Given the description of an element on the screen output the (x, y) to click on. 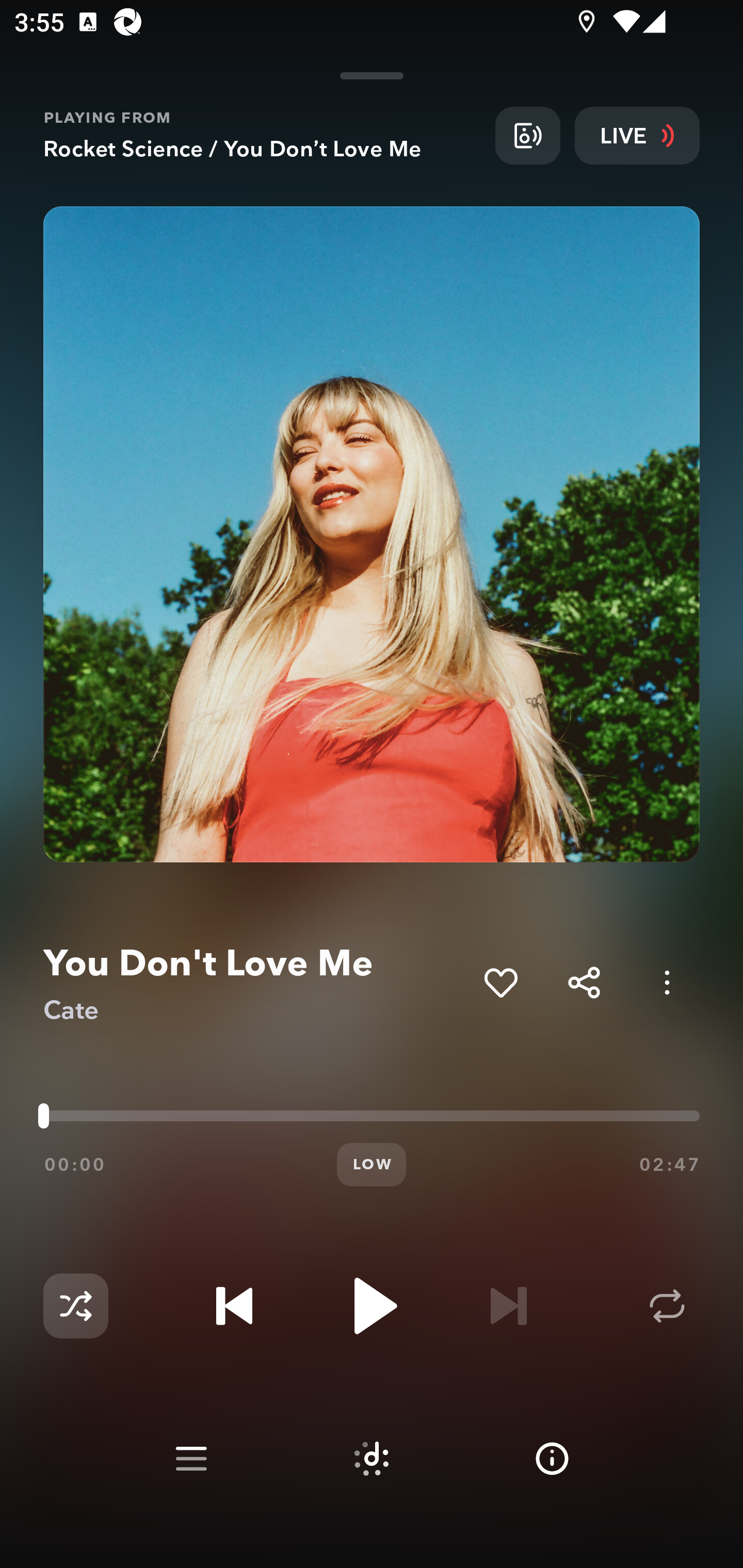
Broadcast (527, 135)
LIVE (637, 135)
PLAYING FROM Rocket Science / You Don’t Love Me (261, 135)
You Don't Love Me Cate (255, 983)
Add to My Collection (500, 982)
Share (583, 982)
Options (666, 982)
LOW (371, 1164)
Play (371, 1306)
Previous (234, 1306)
Next (508, 1306)
Shuffle enabled (75, 1306)
Repeat Off (666, 1306)
Play queue (191, 1458)
Suggested tracks (371, 1458)
Info (551, 1458)
